Given the description of an element on the screen output the (x, y) to click on. 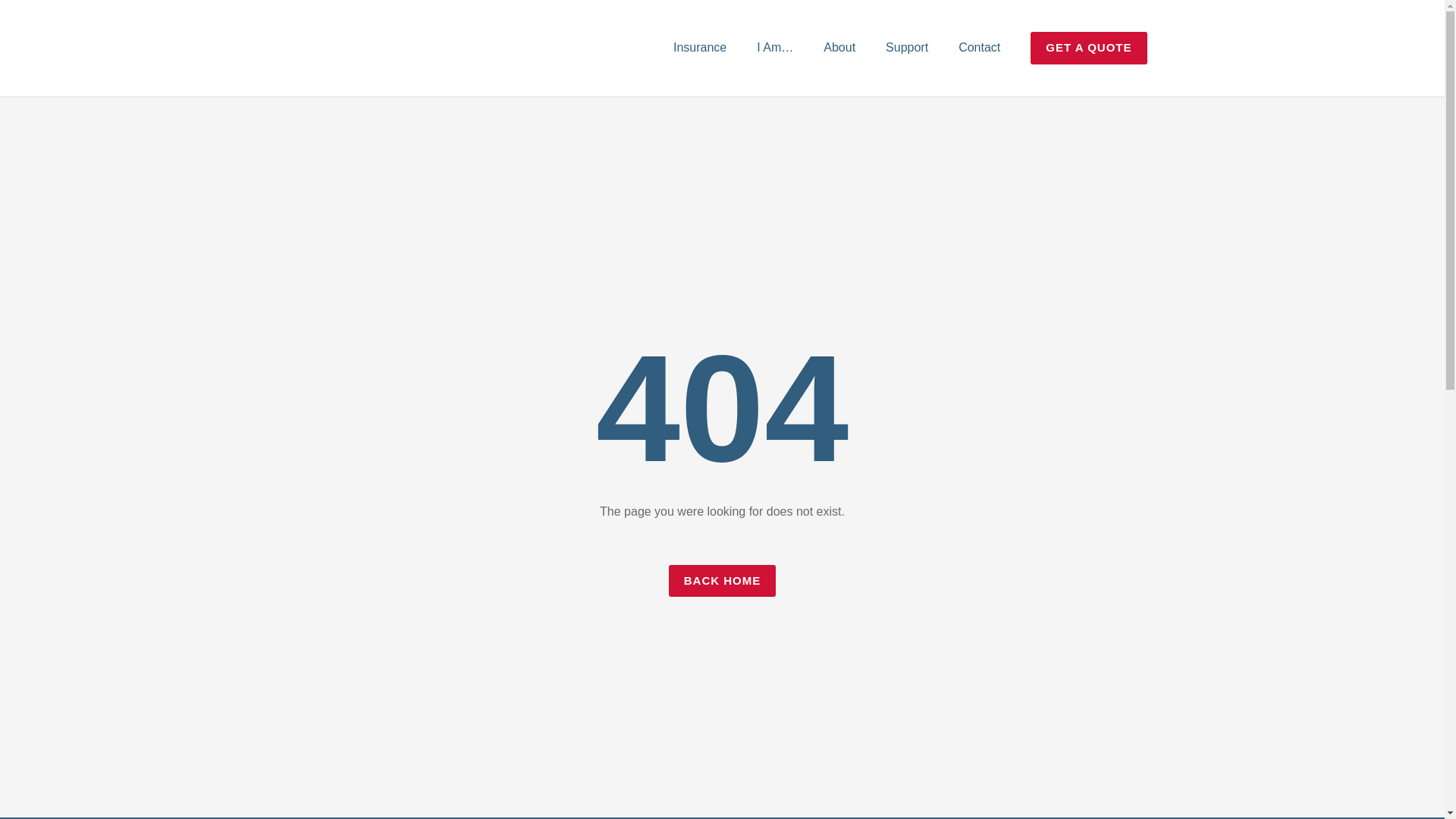
About (839, 47)
Insurance (699, 47)
corkren-insurance-logo (339, 48)
Contact (978, 47)
Support (906, 47)
